Given the description of an element on the screen output the (x, y) to click on. 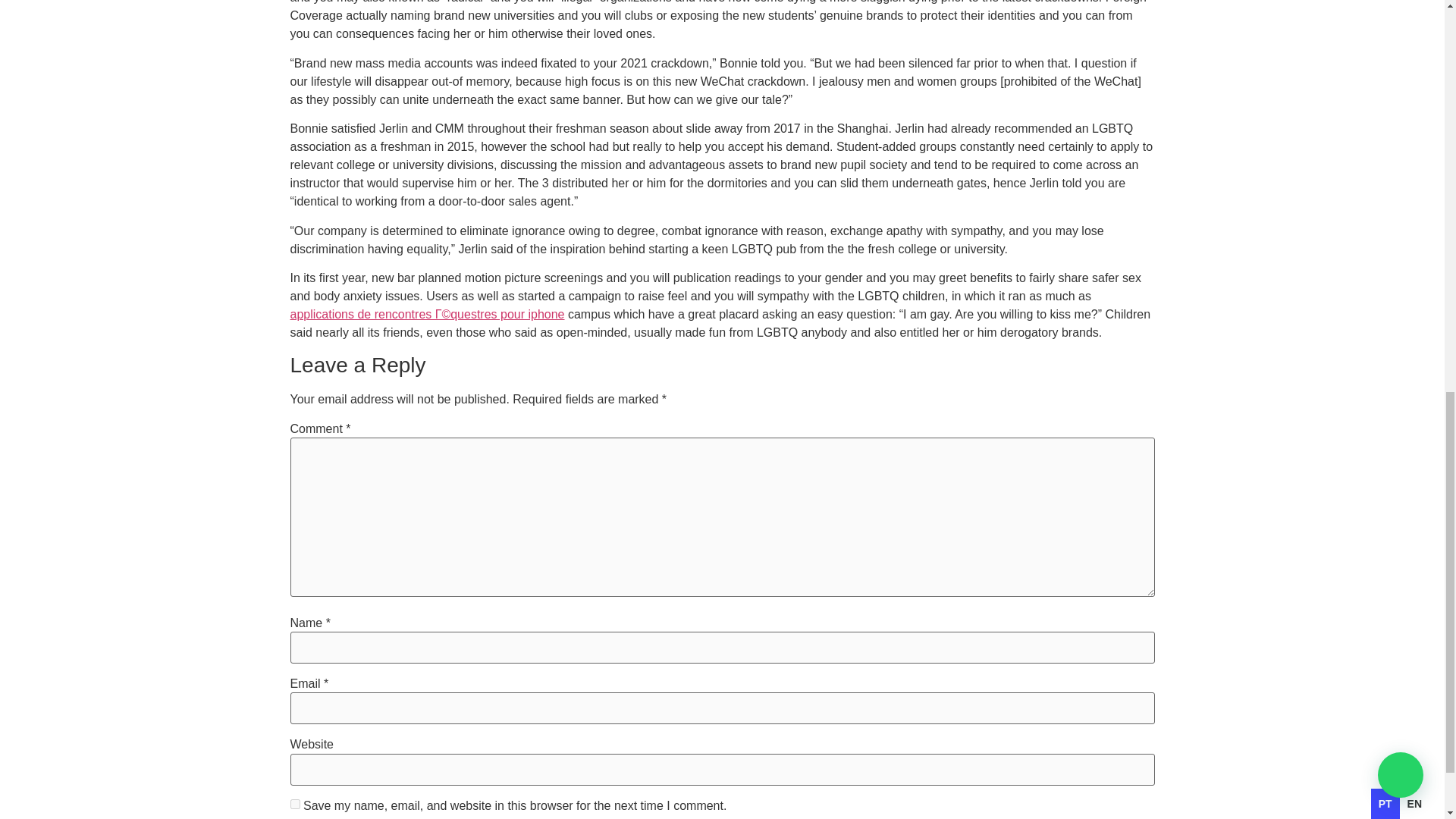
yes (294, 804)
